Given the description of an element on the screen output the (x, y) to click on. 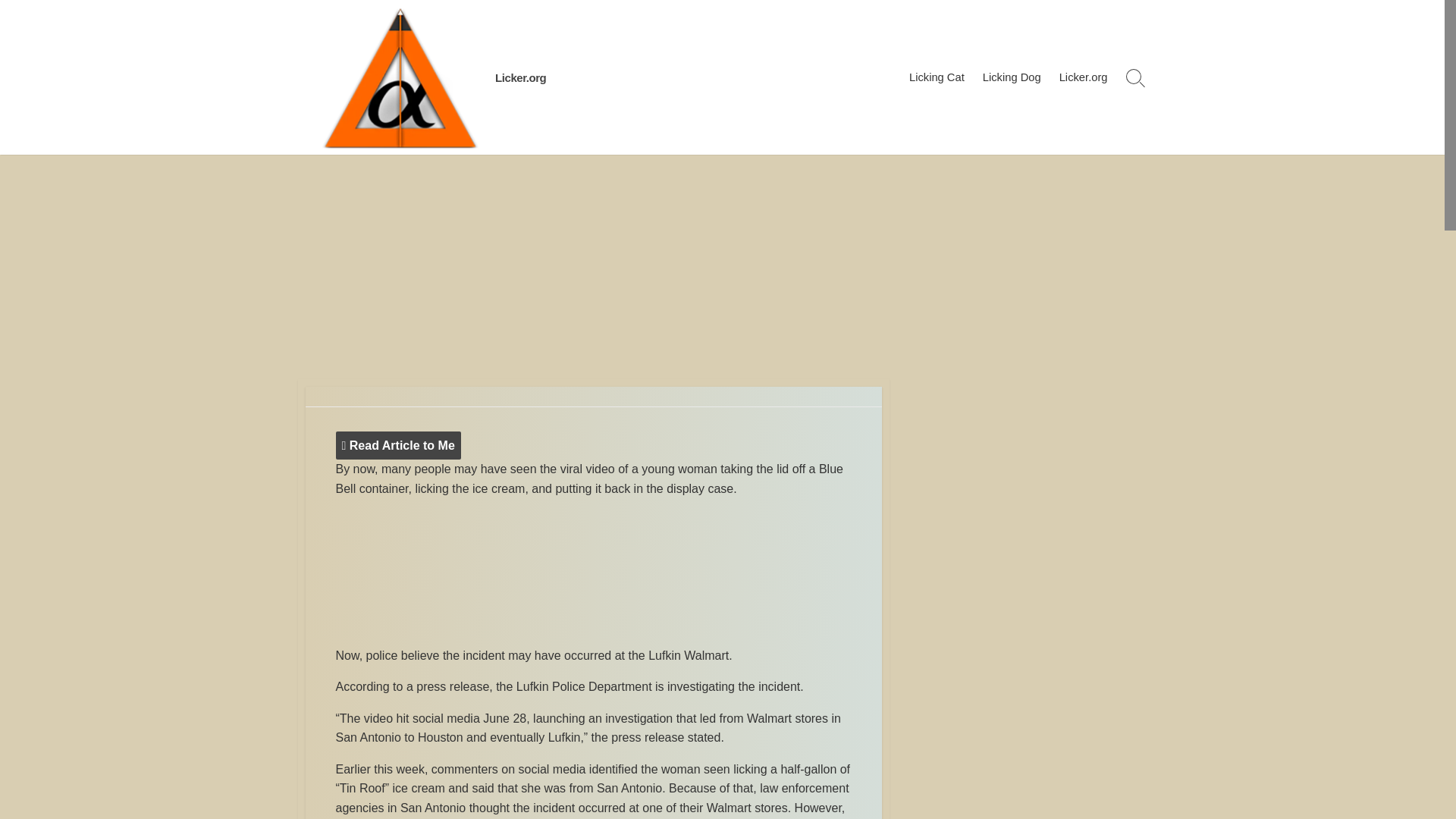
Licker.org (520, 77)
Licking Cat (936, 77)
Licker.org (1082, 77)
Licker.org (520, 77)
Advertisement (592, 575)
Licker.org (399, 77)
Licking Dog (1011, 77)
